Given the description of an element on the screen output the (x, y) to click on. 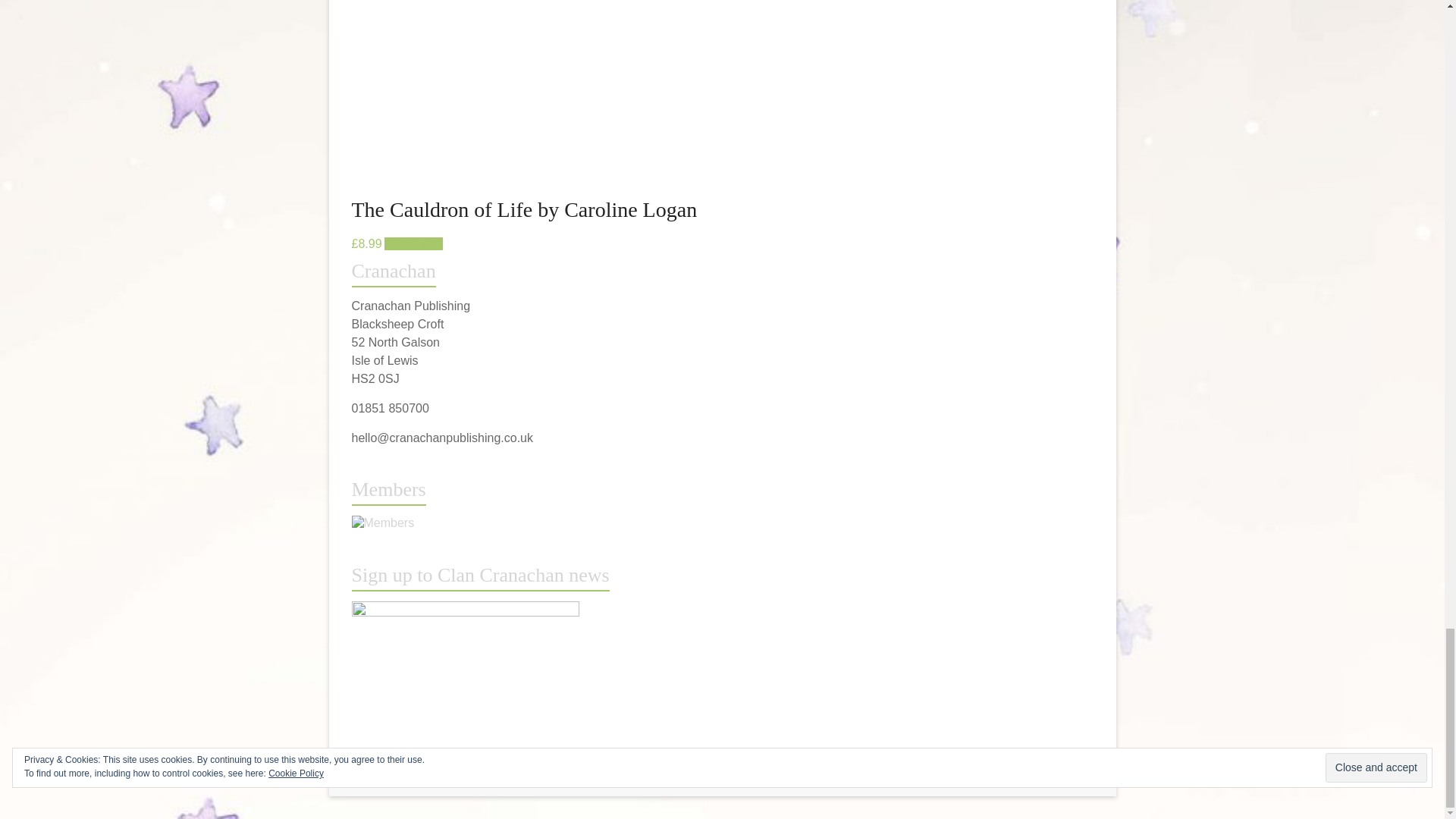
Newsletter sign up box website (465, 608)
Add to cart (413, 243)
Members (383, 522)
Cranachan Publishing (509, 775)
